Given the description of an element on the screen output the (x, y) to click on. 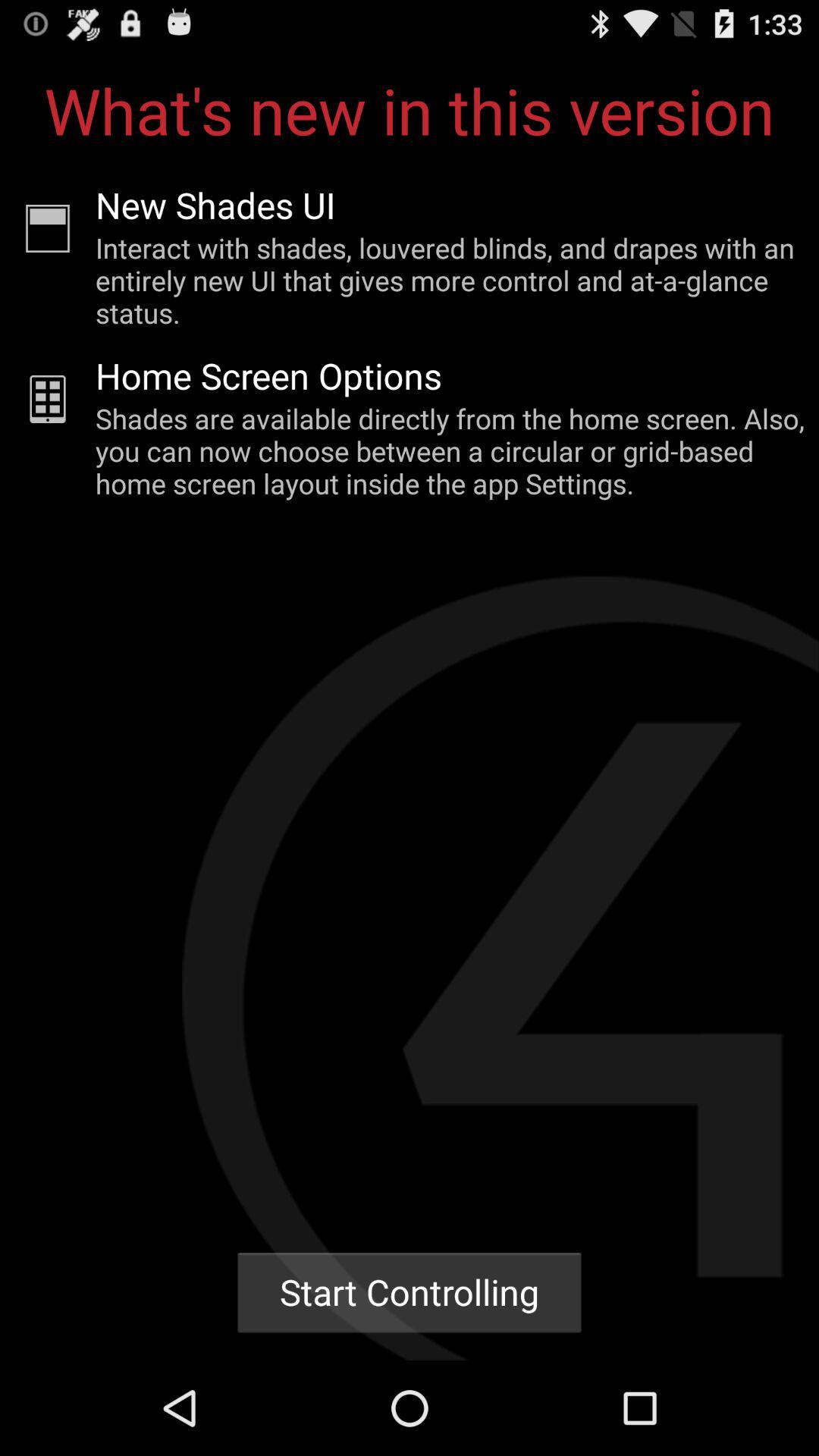
choose start controlling (409, 1292)
